Given the description of an element on the screen output the (x, y) to click on. 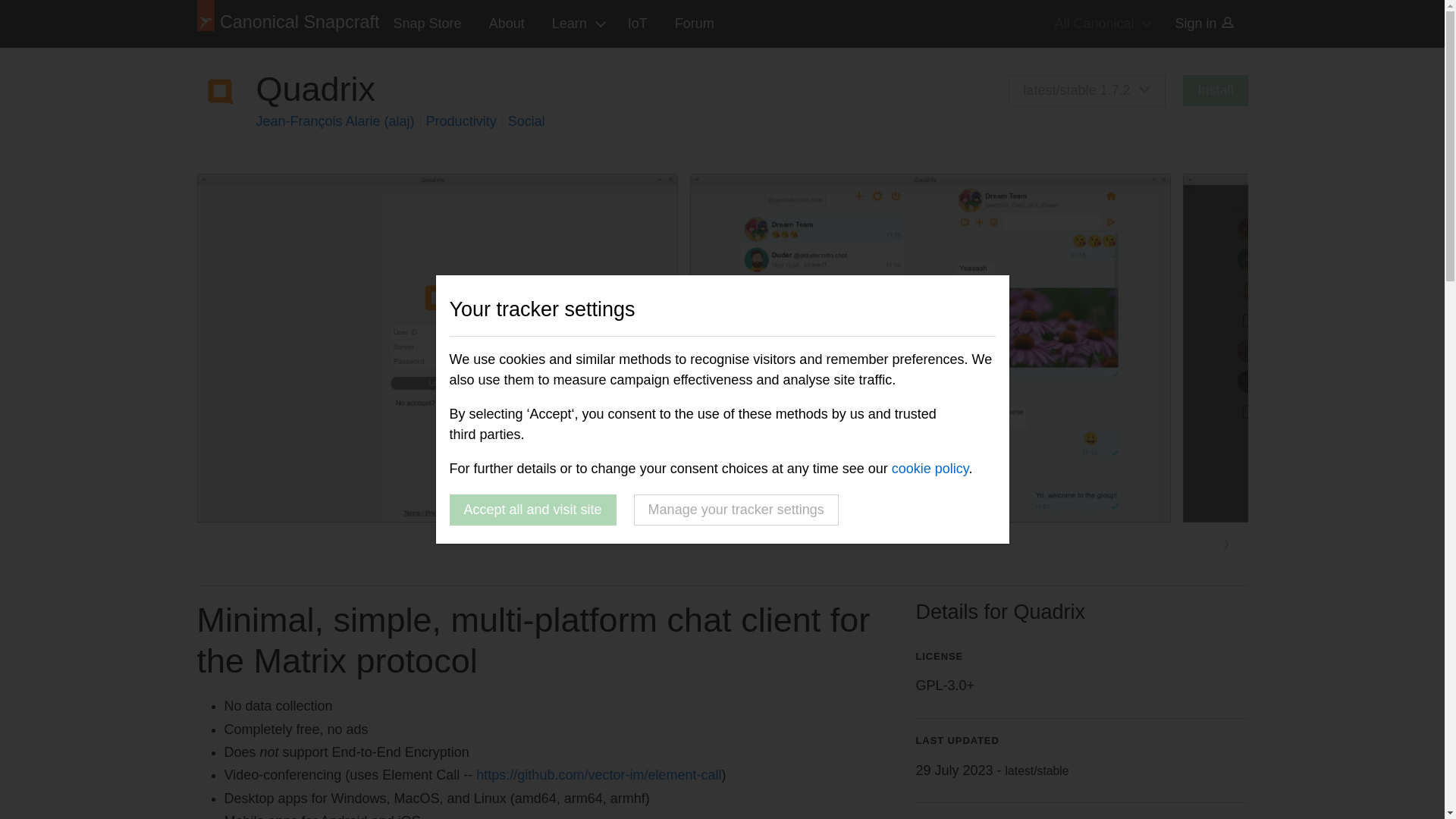
Forum (694, 23)
IoT (637, 23)
Snap Store (428, 23)
Canonical Snapcraft (288, 23)
About (507, 23)
Learn (576, 23)
